Given the description of an element on the screen output the (x, y) to click on. 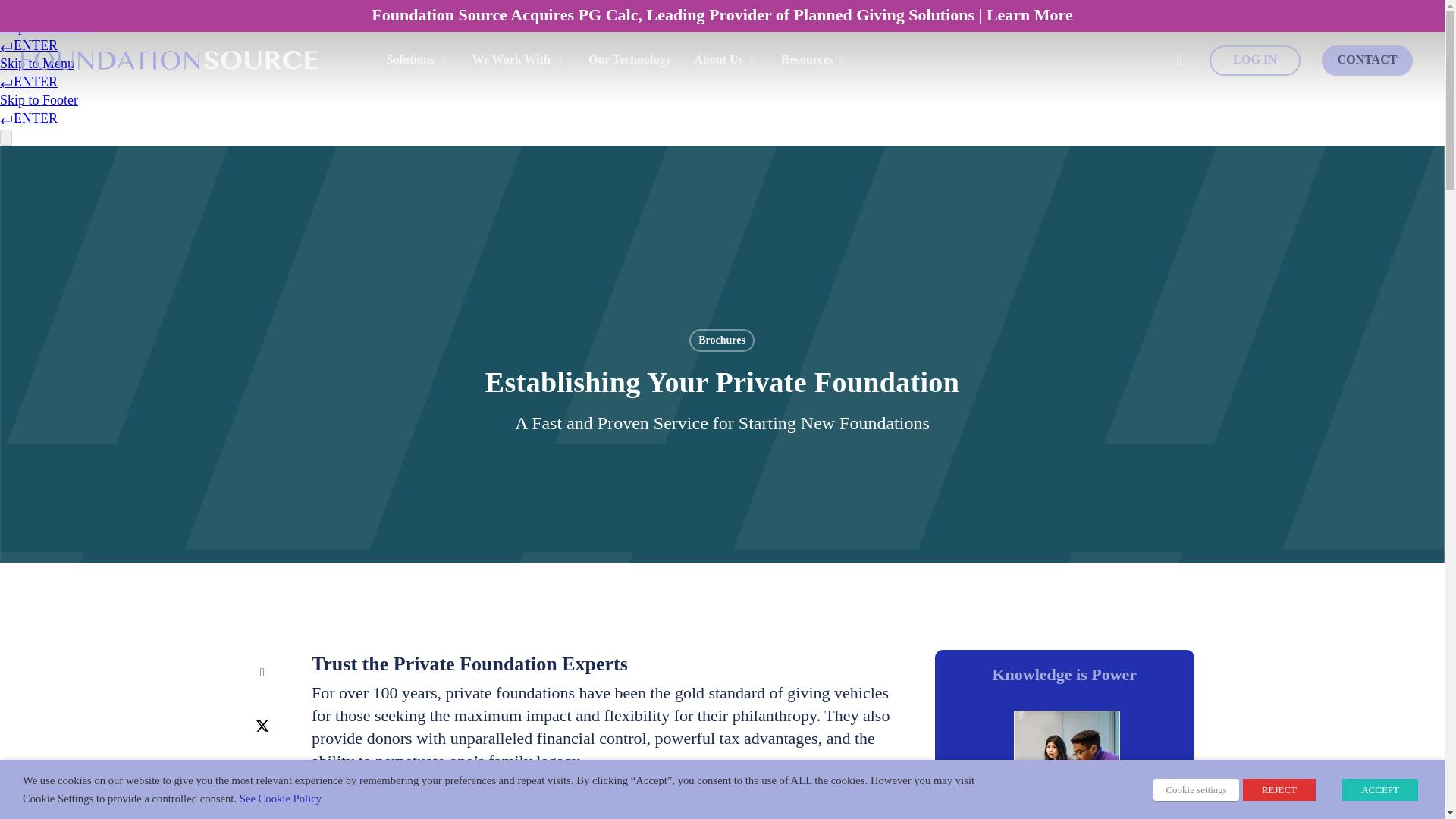
Our Technology (629, 59)
Solutions (418, 59)
search (1179, 59)
Resources (814, 59)
Print this (262, 807)
LOG IN (1254, 60)
About Us (725, 59)
CONTACT (1367, 60)
We Work With (518, 59)
